Given the description of an element on the screen output the (x, y) to click on. 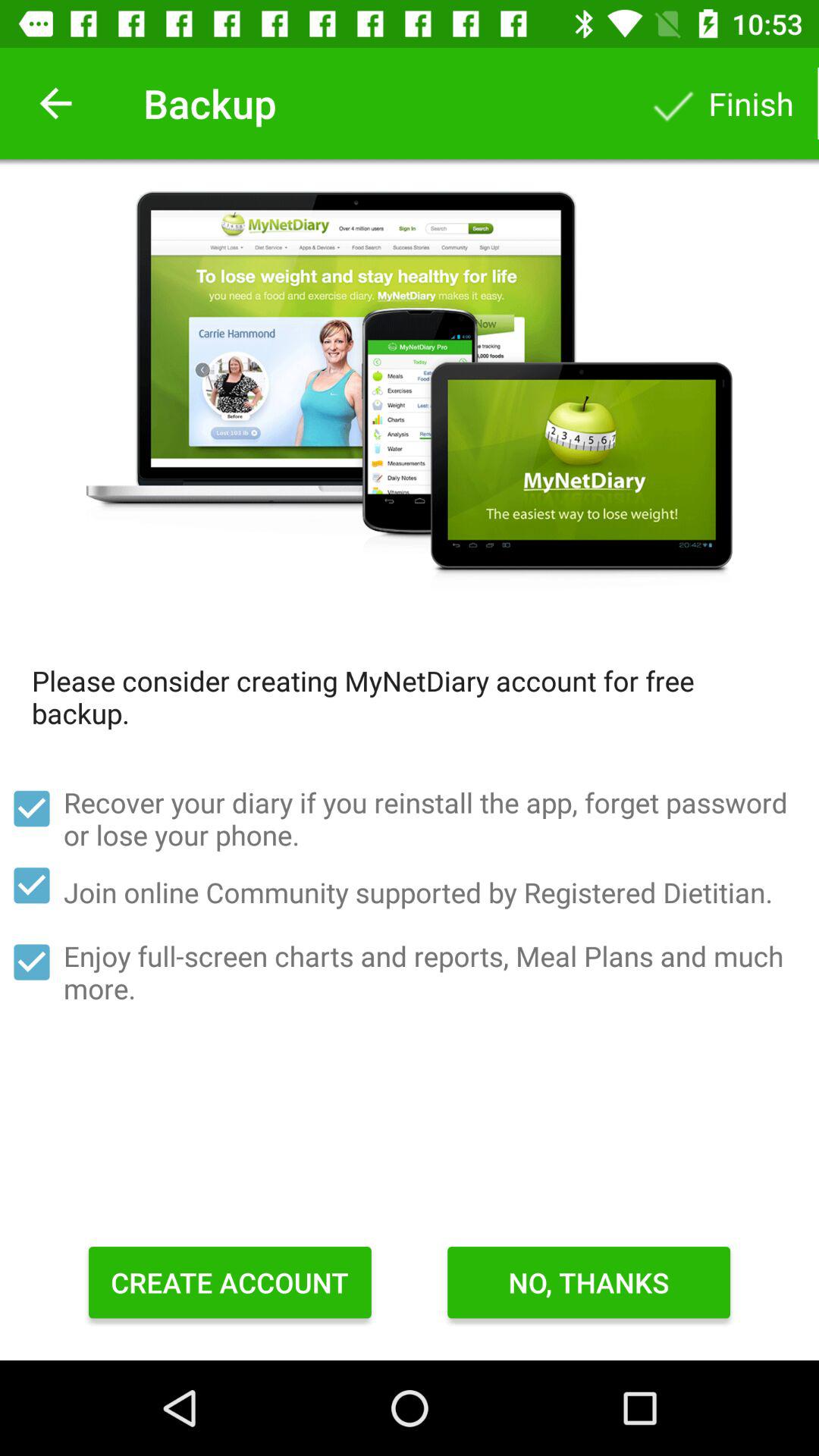
turn on icon to the left of backup (55, 103)
